Given the description of an element on the screen output the (x, y) to click on. 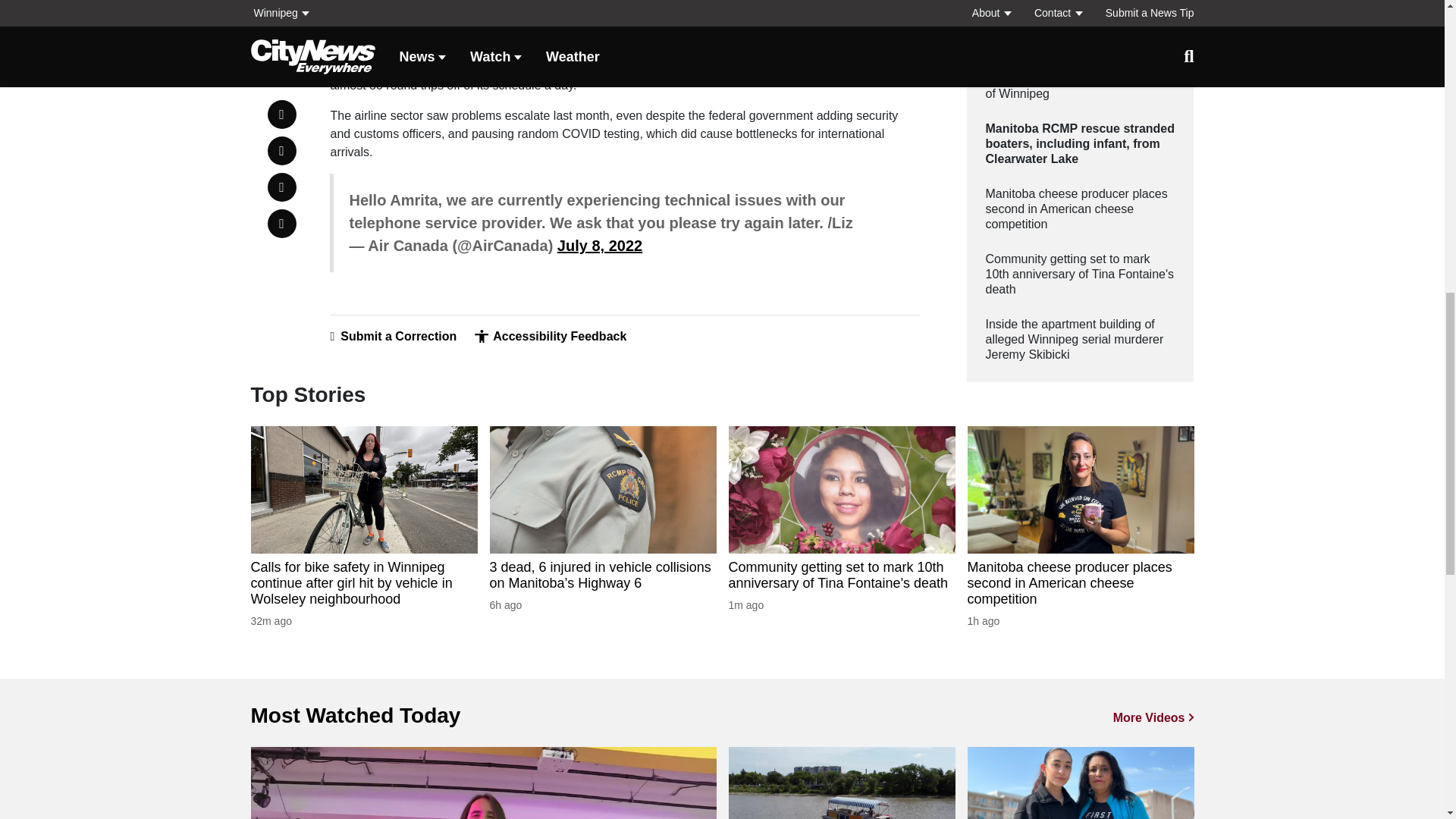
Submit a Correction (393, 336)
Accessibility Feedback (550, 336)
